Given the description of an element on the screen output the (x, y) to click on. 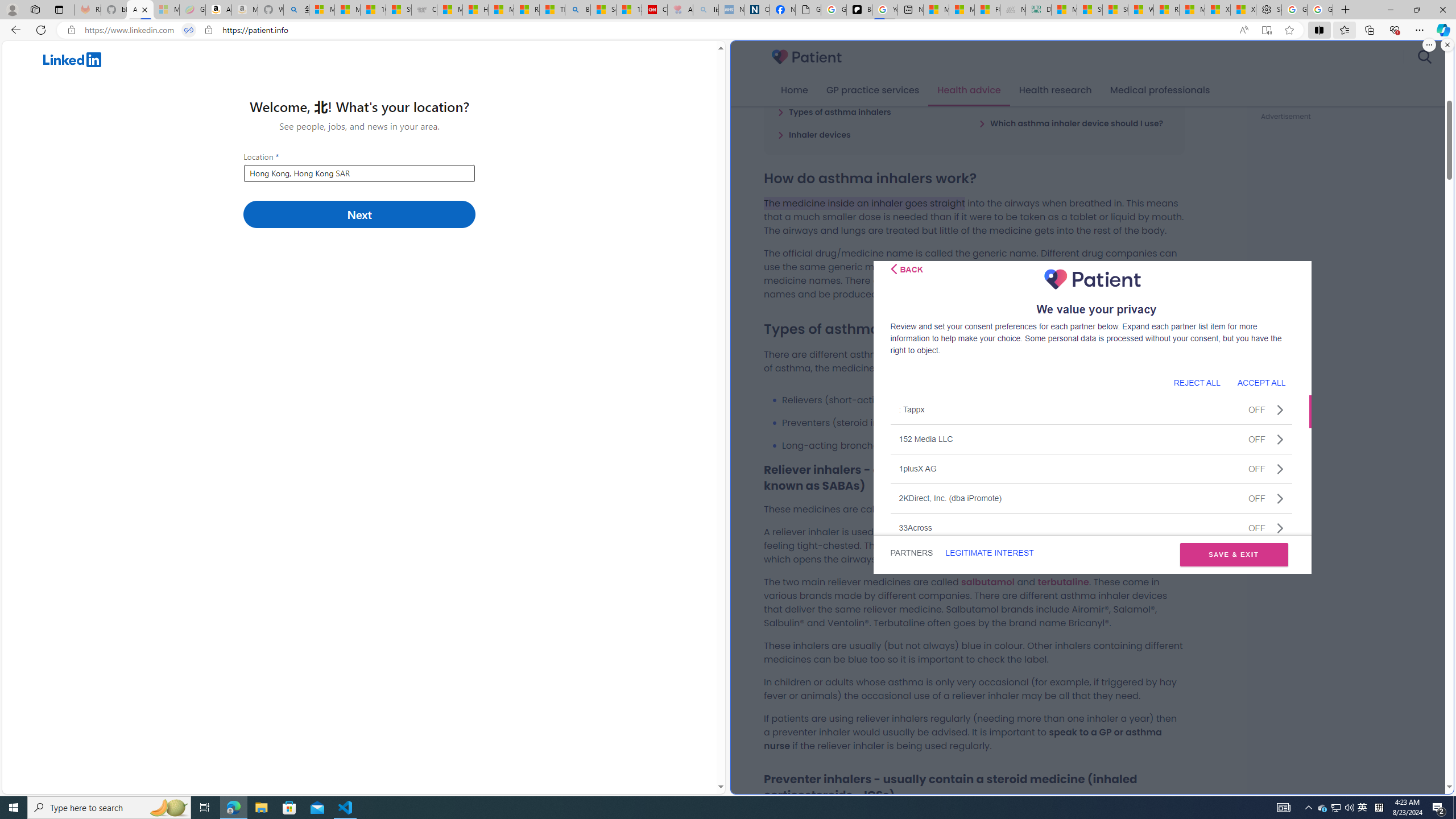
Which asthma inhaler device should I use? (1070, 123)
33AcrossOFF (1090, 527)
Health research (1054, 90)
Medical professionals (1160, 90)
Class: css-jswnc6 (1280, 527)
More options. (1428, 45)
Be Smart | creating Science videos | Patreon (858, 9)
